Given the description of an element on the screen output the (x, y) to click on. 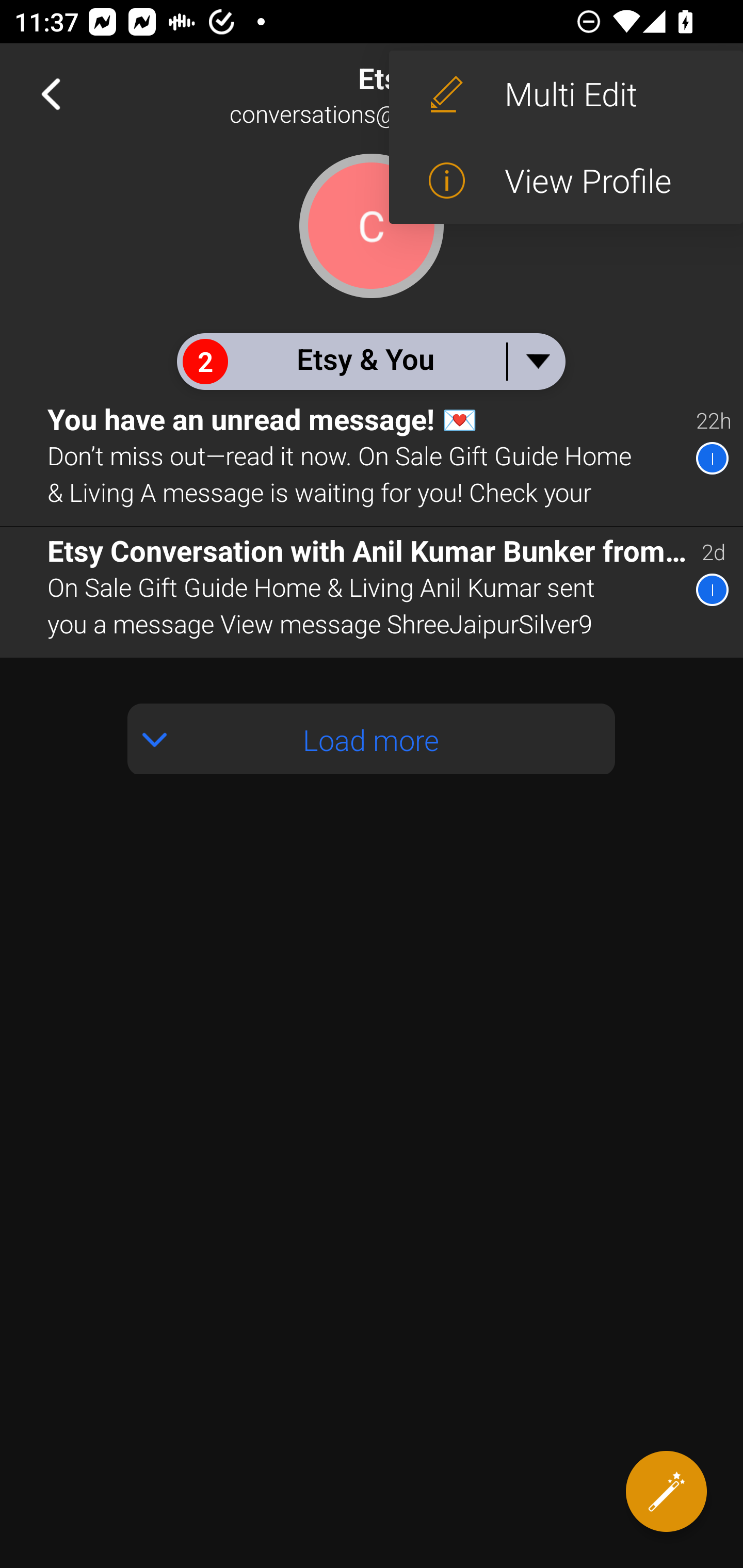
Multi Edit (566, 93)
View Profile (566, 180)
